Given the description of an element on the screen output the (x, y) to click on. 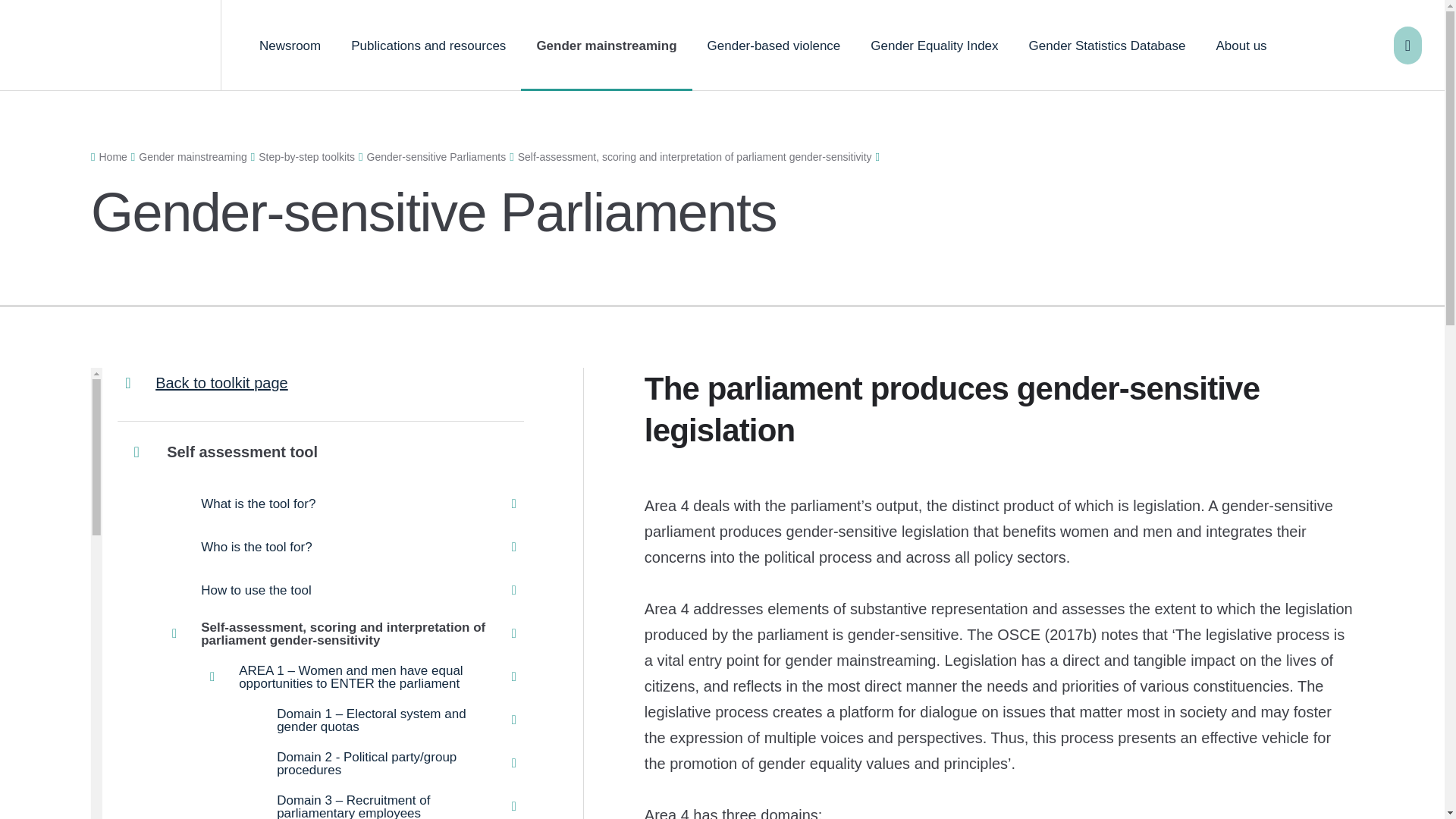
Newsroom (290, 45)
Publications and resources (428, 45)
Gender mainstreaming (606, 45)
European Institute for Gender Equality (110, 45)
